Given the description of an element on the screen output the (x, y) to click on. 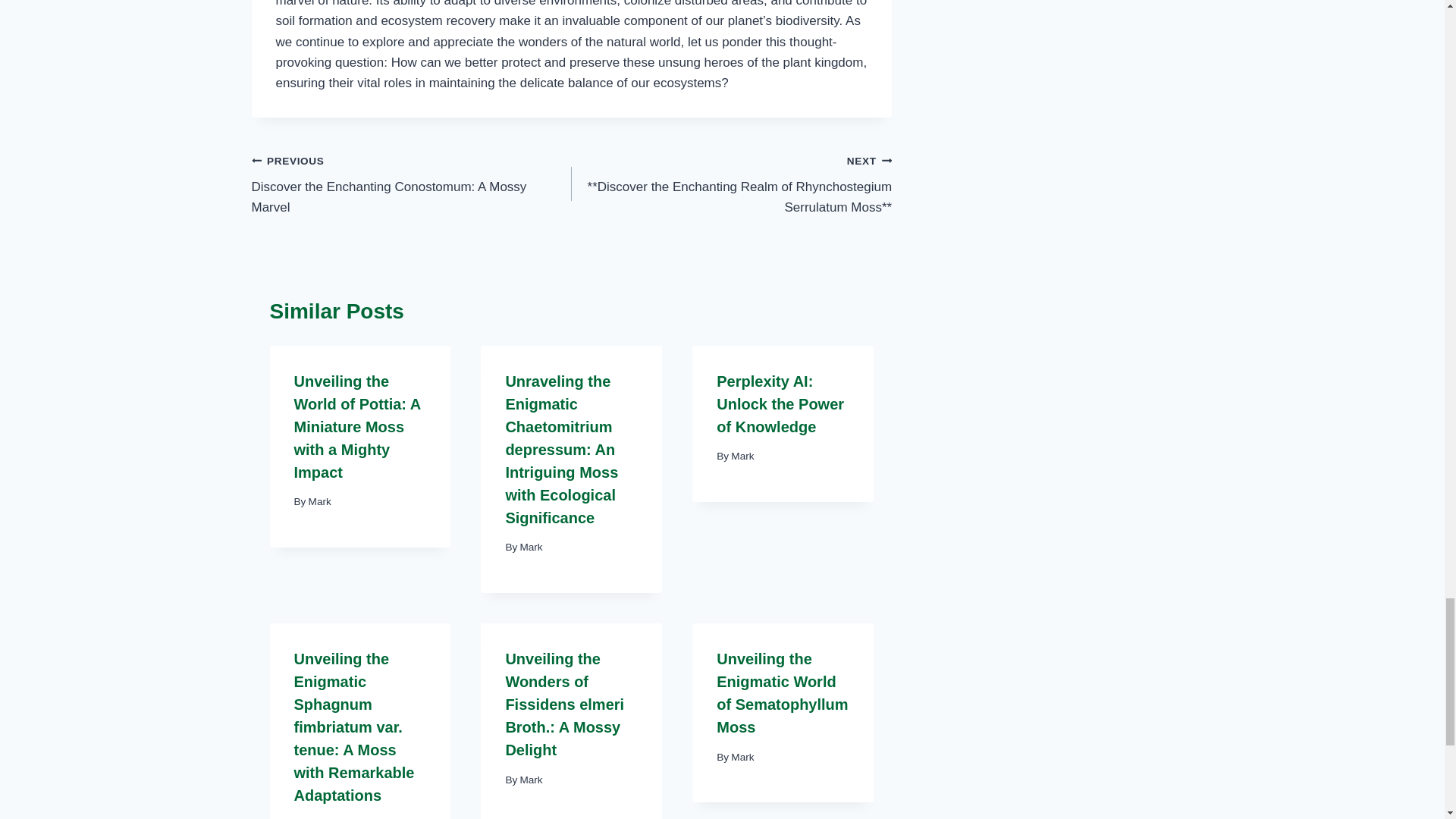
Mark (411, 183)
Mark (319, 501)
